Given the description of an element on the screen output the (x, y) to click on. 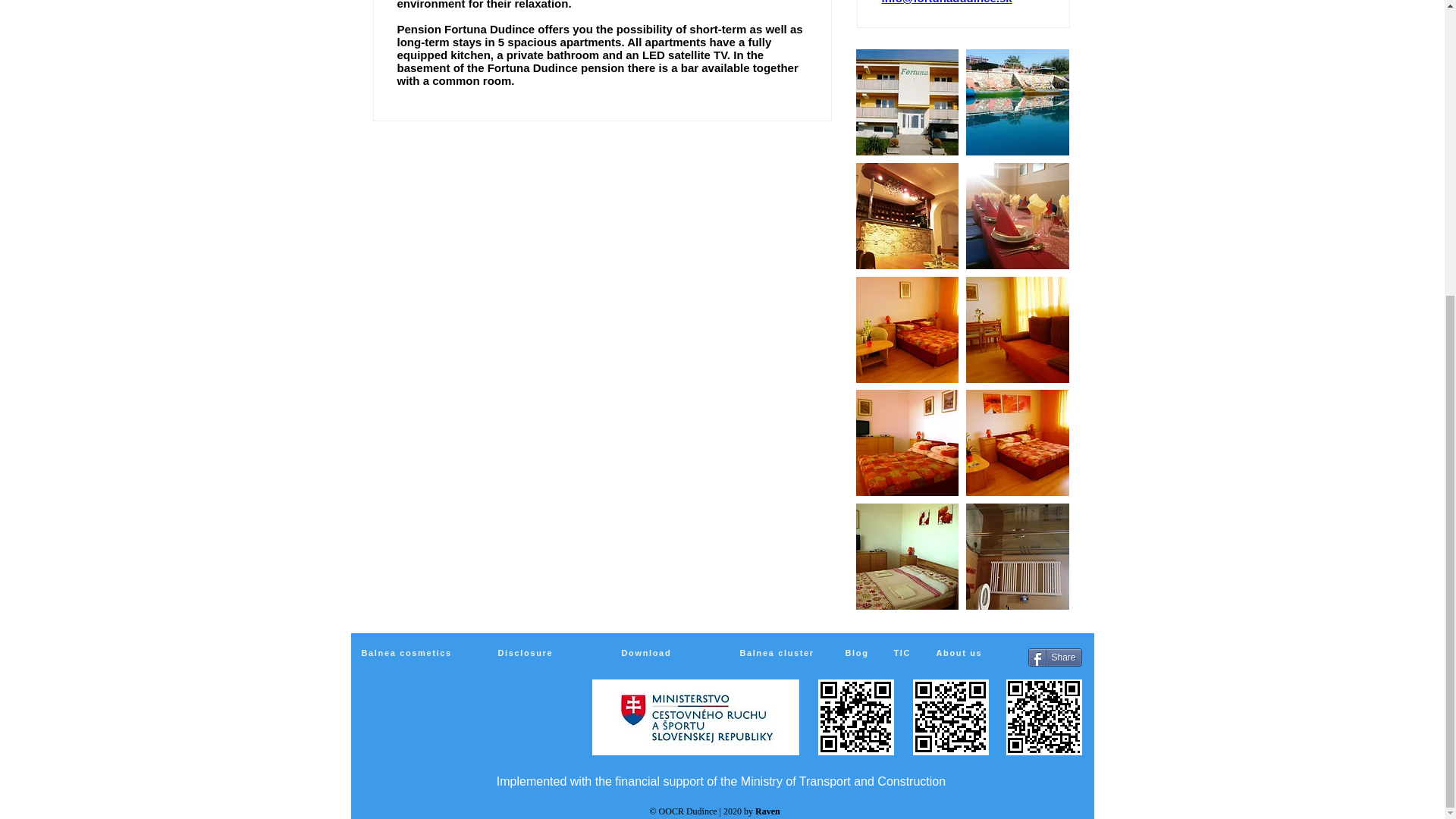
Share (1054, 657)
